Given the description of an element on the screen output the (x, y) to click on. 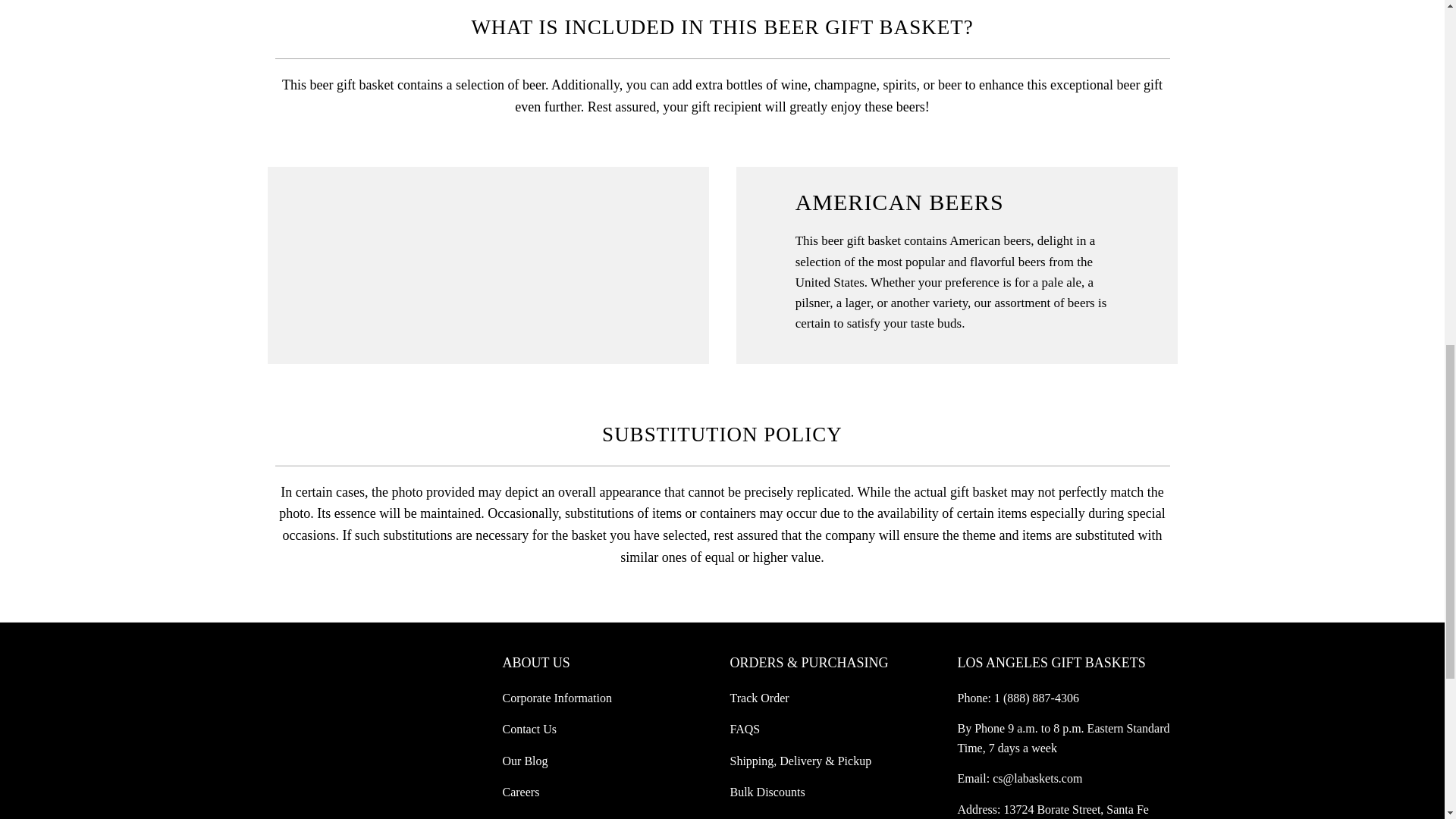
American Beers (486, 177)
